Given the description of an element on the screen output the (x, y) to click on. 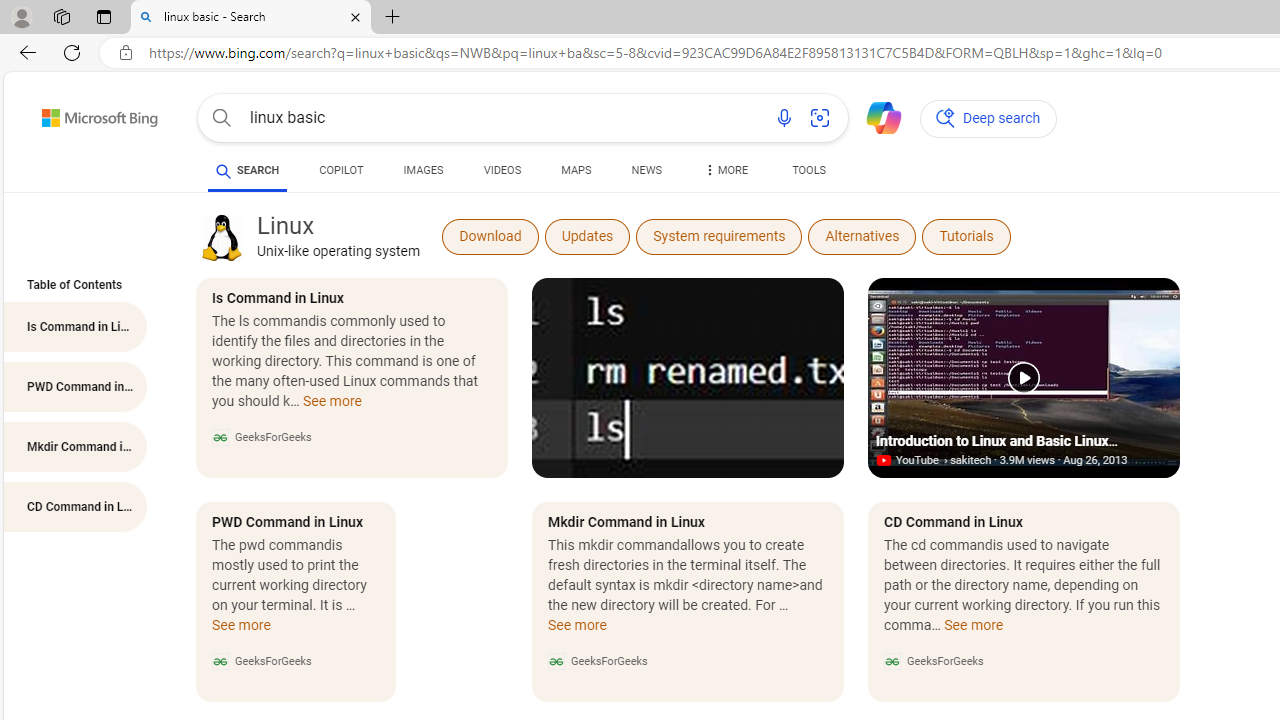
MORE (724, 173)
NEWS (646, 170)
Dropdown Menu (724, 170)
Alternatives (861, 236)
Search using an image (820, 117)
VIDEOS (501, 170)
NEWS (646, 173)
Back to Bing search (87, 113)
Download (489, 236)
SEARCH (247, 170)
TOOLS (808, 170)
